Given the description of an element on the screen output the (x, y) to click on. 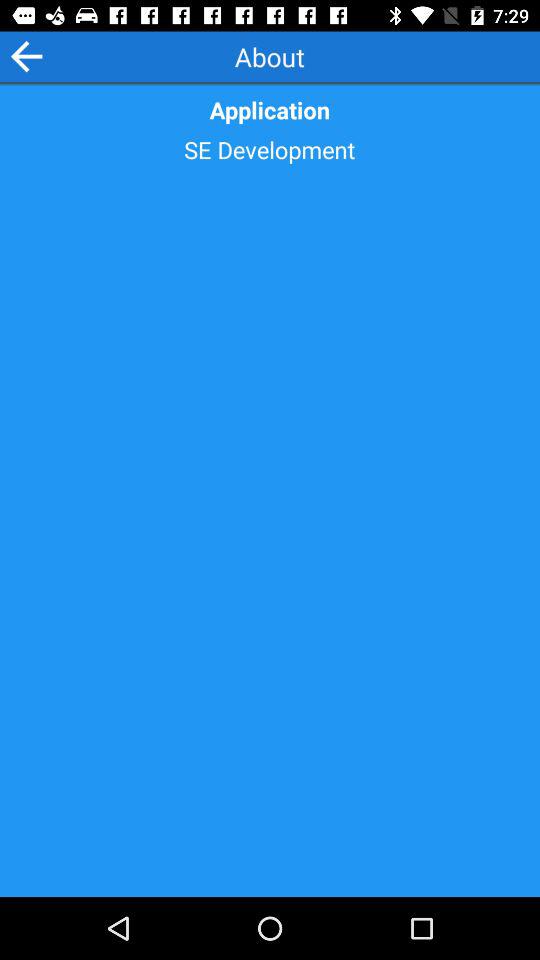
turn off app to the left of application icon (26, 56)
